Given the description of an element on the screen output the (x, y) to click on. 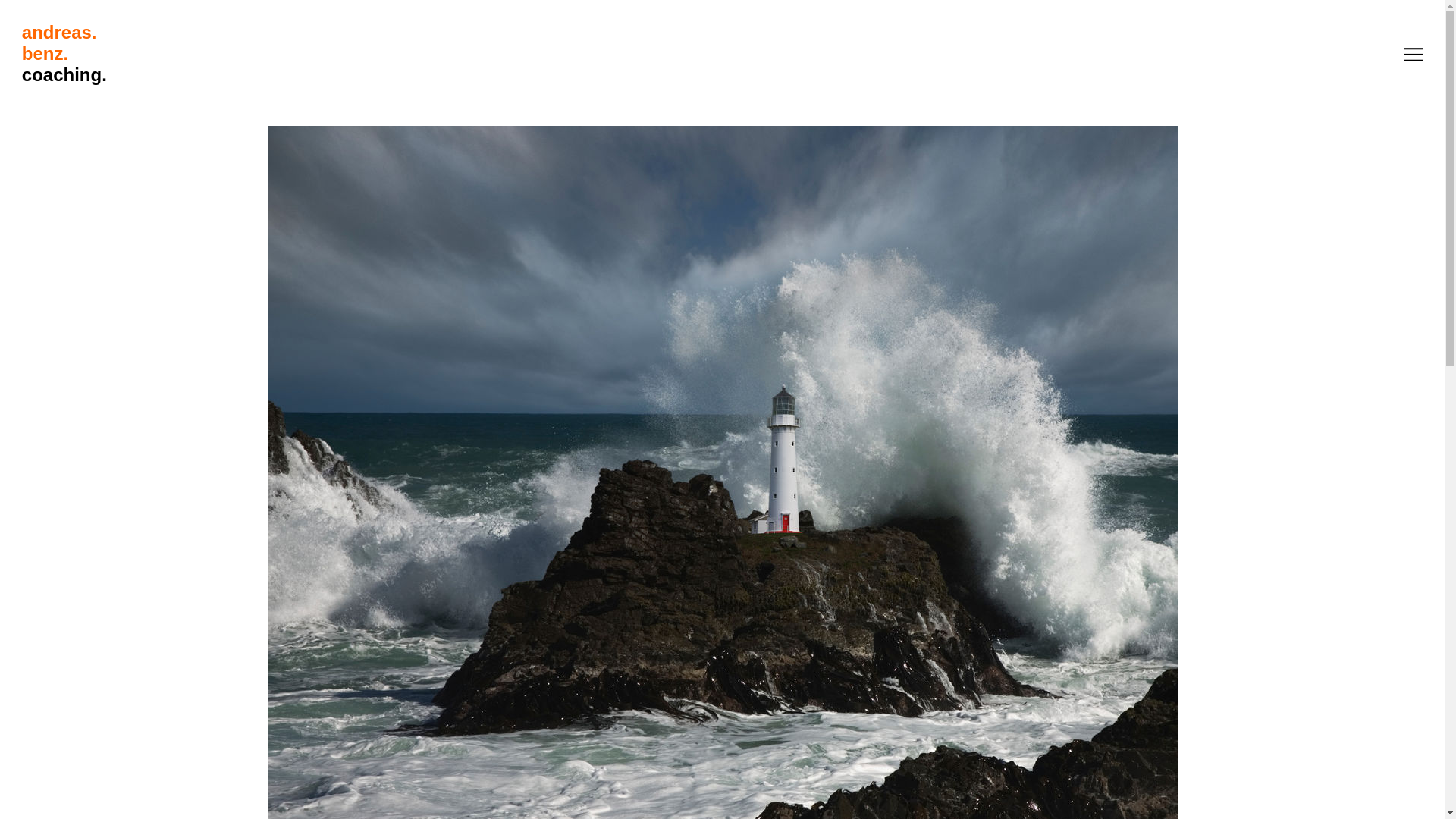
Anmelden Element type: text (707, 249)
andreas.
benz.
coaching. Element type: text (722, 53)
